Given the description of an element on the screen output the (x, y) to click on. 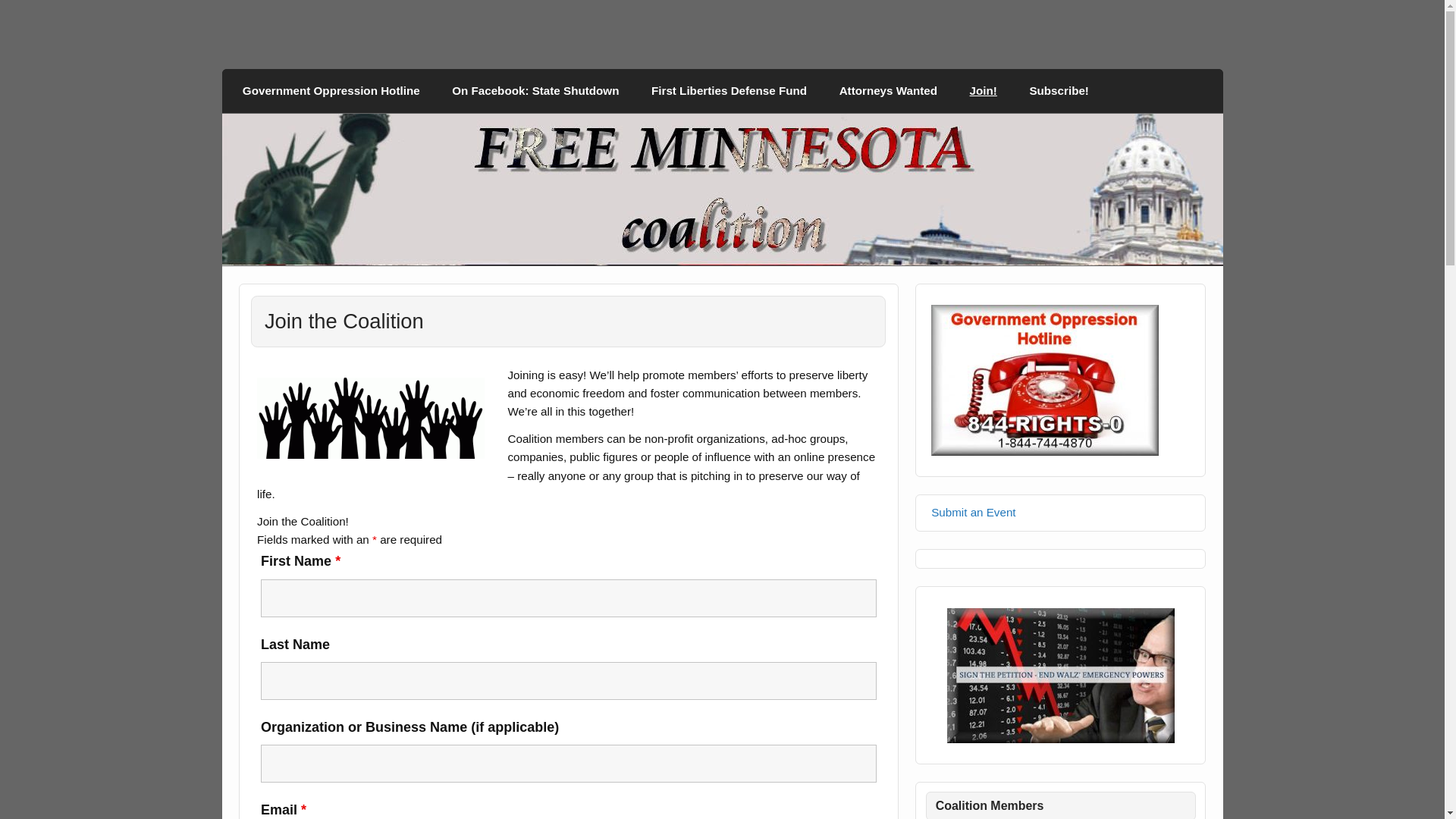
First Liberties Defense Fund (729, 90)
Submit an Event (972, 512)
Free Minnesota (346, 62)
Government Oppression Hotline (331, 90)
Subscribe! (1059, 90)
Attorneys Wanted (887, 90)
Join! (983, 90)
On Facebook: State Shutdown (534, 90)
